Given the description of an element on the screen output the (x, y) to click on. 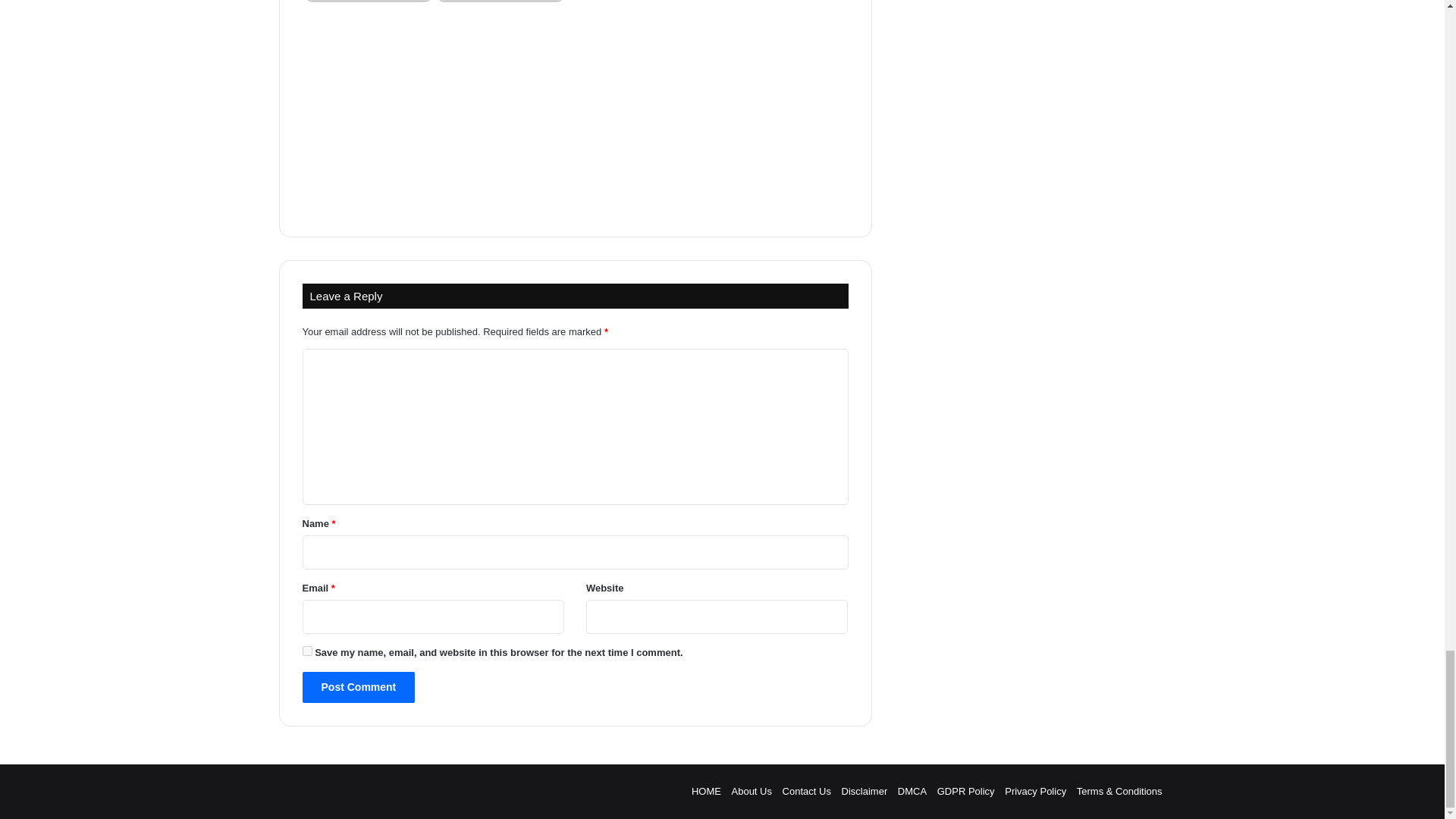
DMCA (912, 790)
About Us (750, 790)
yes (306, 651)
Disclaimer (864, 790)
Post Comment (357, 686)
Contact Us (807, 790)
Post Comment (357, 686)
HOME (705, 790)
